Given the description of an element on the screen output the (x, y) to click on. 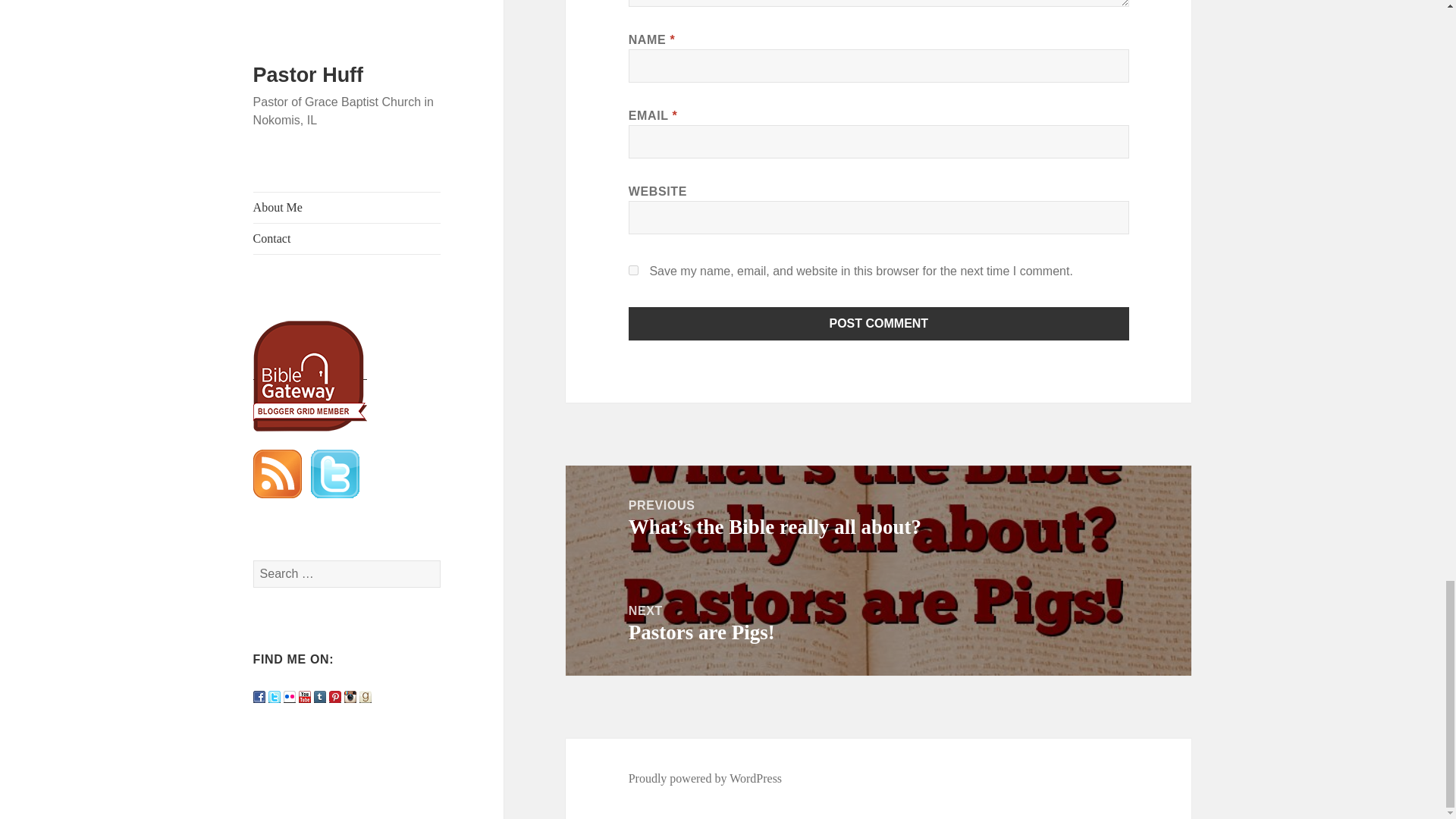
Proudly powered by WordPress (704, 778)
Post Comment (878, 323)
yes (878, 622)
Post Comment (633, 270)
